Given the description of an element on the screen output the (x, y) to click on. 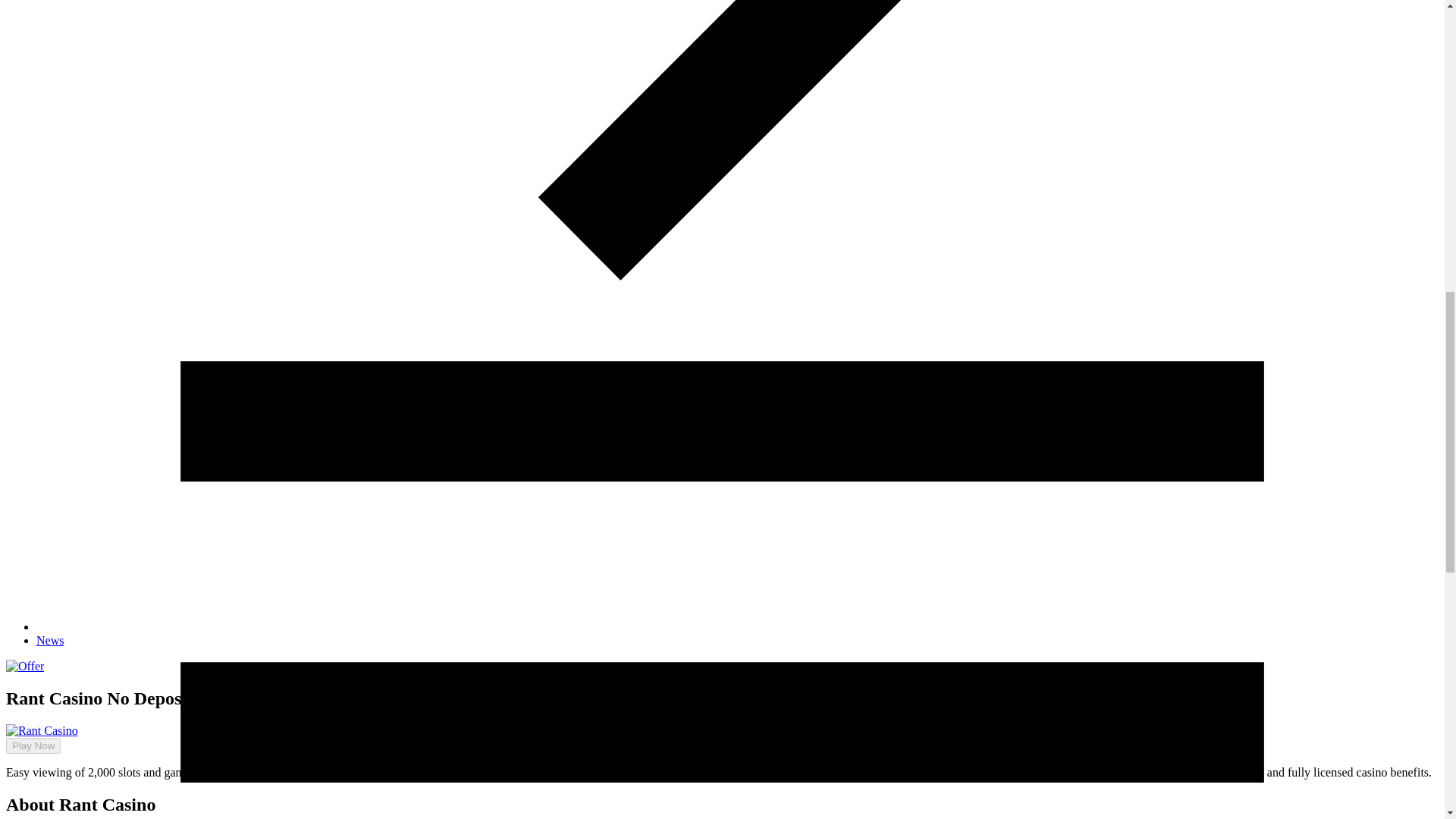
Play Now (27, 718)
Play Now (33, 745)
News (50, 640)
